Given the description of an element on the screen output the (x, y) to click on. 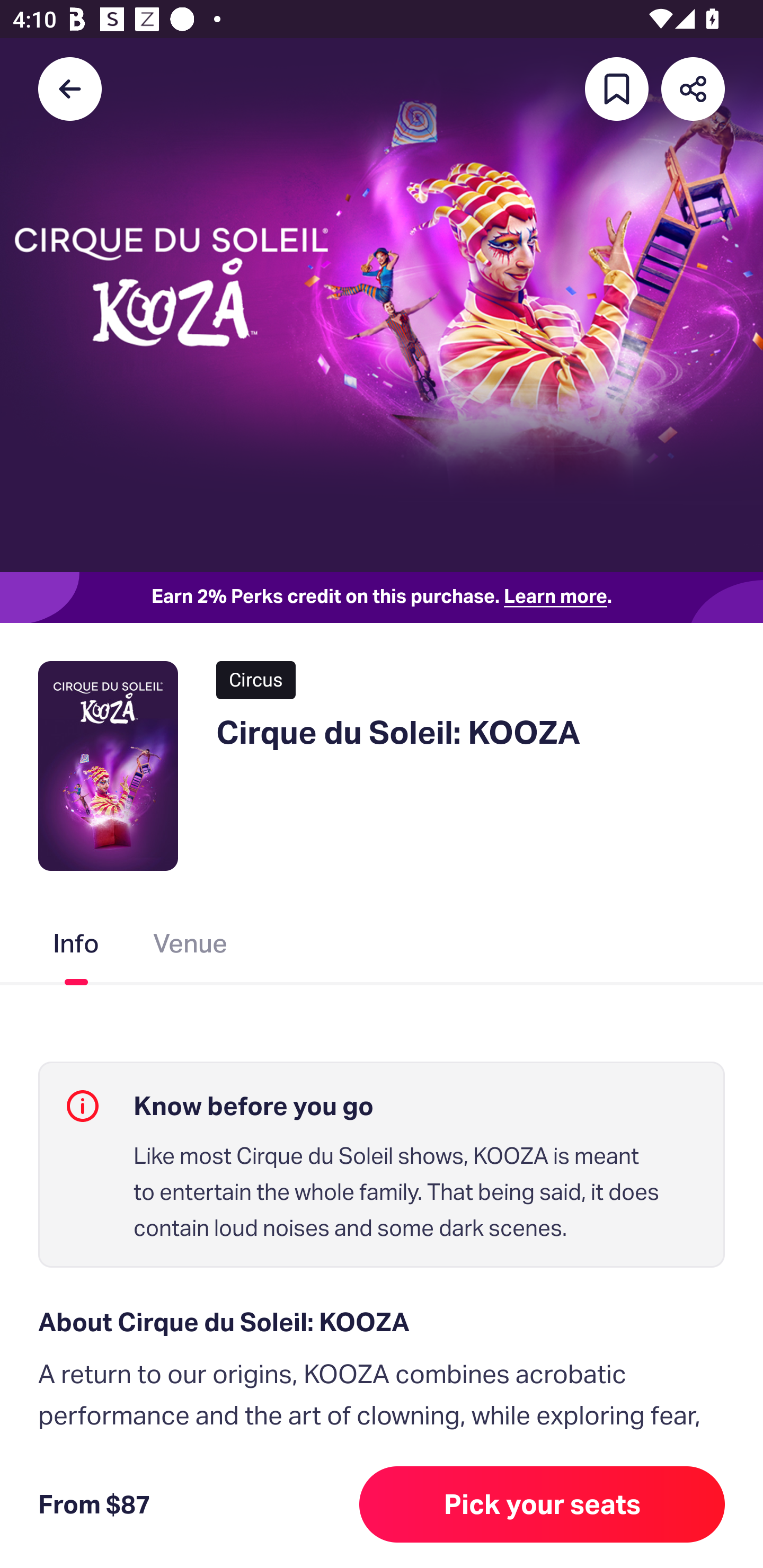
Earn 2% Perks credit on this purchase. Learn more. (381, 597)
Venue (190, 946)
About Cirque du Soleil: KOOZA (381, 1322)
Pick your seats (541, 1504)
